Given the description of an element on the screen output the (x, y) to click on. 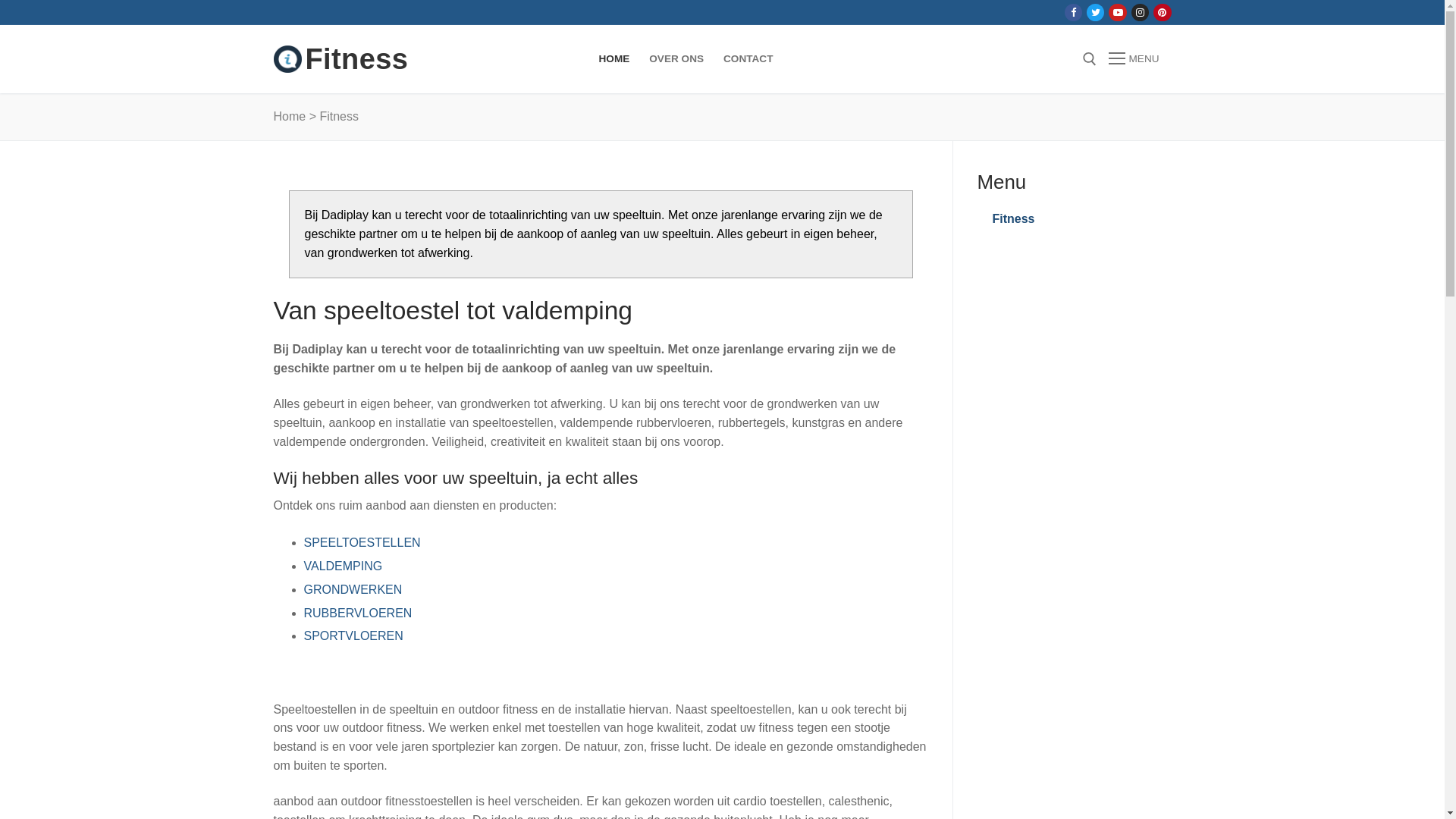
OVER ONS Element type: text (676, 58)
Youtube Element type: hover (1118, 12)
SPORTVLOEREN Element type: text (352, 635)
Doorgaan naar inhoud Element type: text (0, 0)
SPEELTOESTELLEN Element type: text (361, 542)
Facebook Element type: hover (1073, 12)
Twitter Element type: hover (1095, 12)
CONTACT Element type: text (747, 58)
Pinterest Element type: hover (1162, 12)
Fitness Element type: text (355, 58)
RUBBERVLOEREN Element type: text (357, 612)
GRONDWERKEN Element type: text (352, 589)
MENU Element type: text (1133, 59)
VALDEMPING Element type: text (342, 565)
Instagram Element type: hover (1140, 12)
HOME Element type: text (613, 58)
Fitness Element type: text (1067, 218)
